Given the description of an element on the screen output the (x, y) to click on. 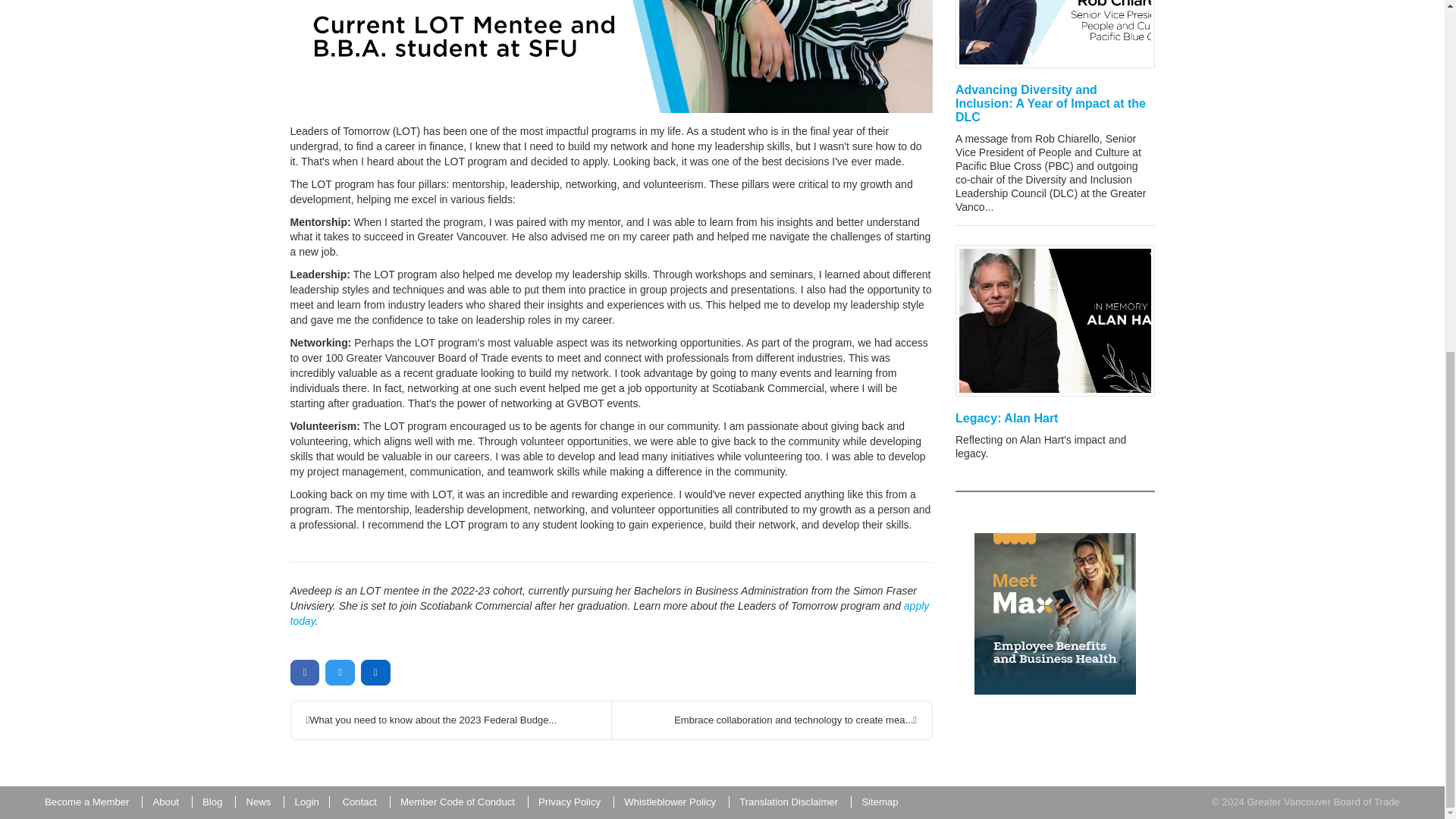
ALAN-HEART (1054, 320)
Leaders-of-Tomorrow-Creatives-1280--800-px-1 (611, 56)
Legacy: Alan Hart (1006, 418)
apply today (608, 613)
Advancing-Diversity-and-Inclusion-Blog-Cover (1054, 33)
